Given the description of an element on the screen output the (x, y) to click on. 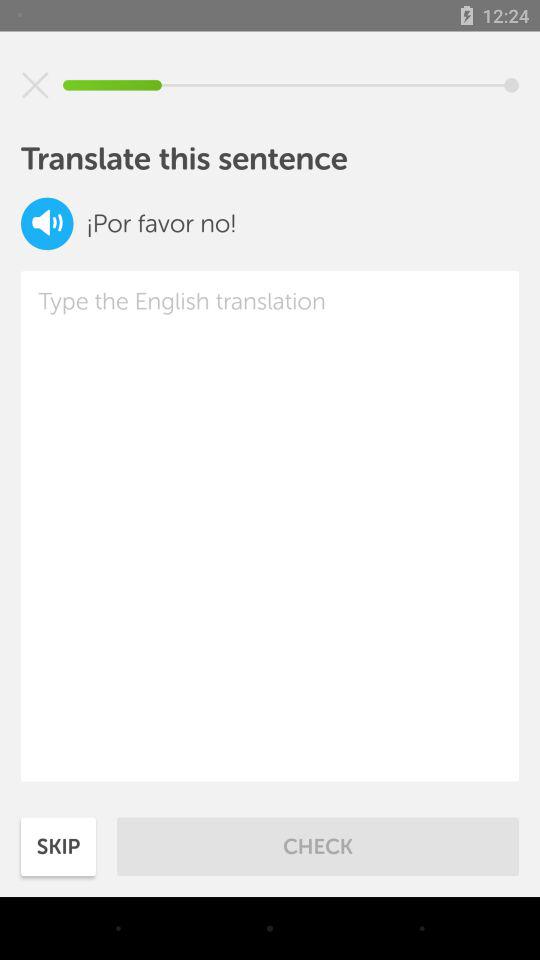
press item to the left of the check item (58, 846)
